Given the description of an element on the screen output the (x, y) to click on. 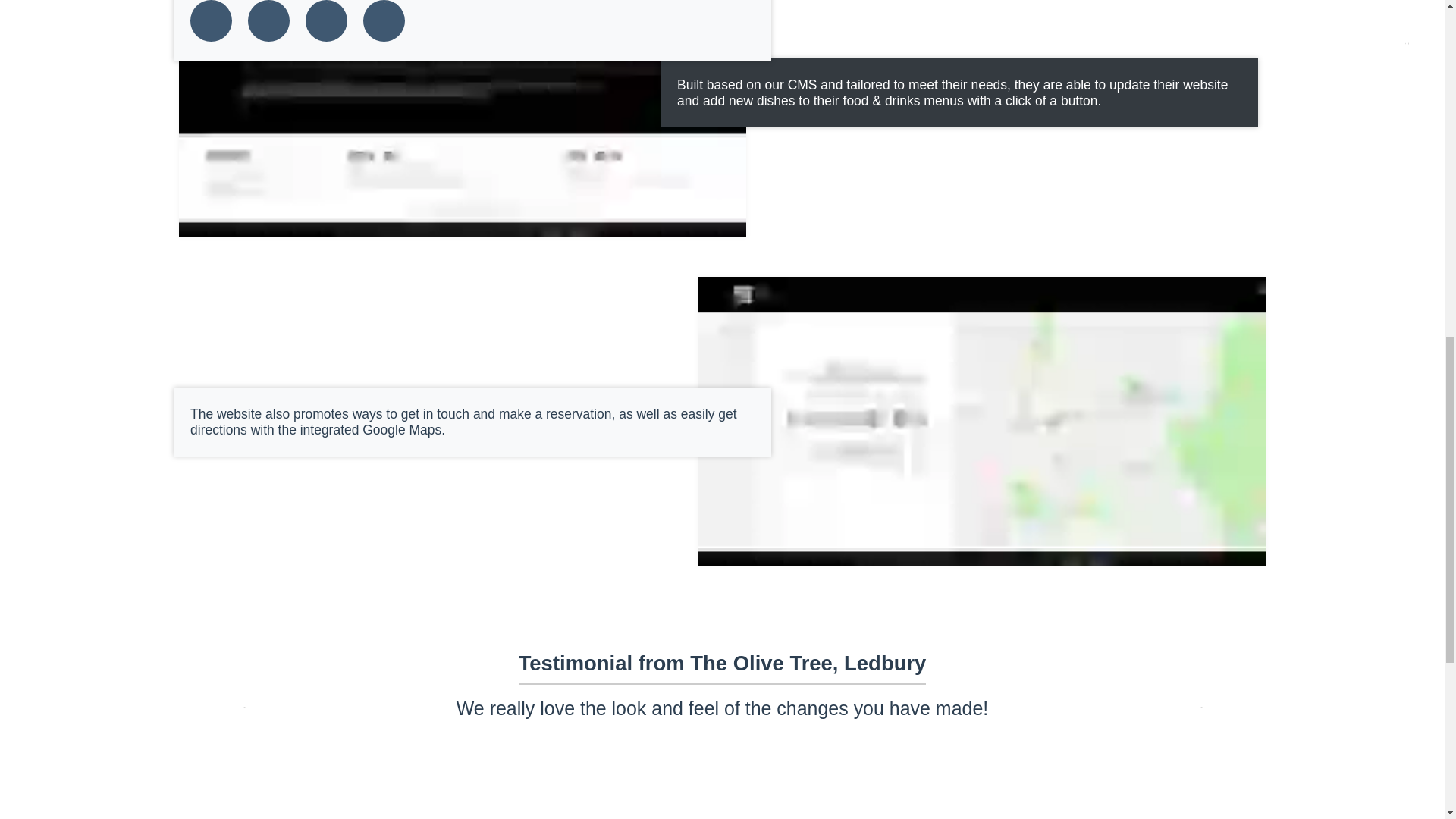
Responsive Design (326, 20)
CMS (268, 20)
Website Design (210, 20)
Ledbury, Herefordshire Web Design (383, 20)
